Given the description of an element on the screen output the (x, y) to click on. 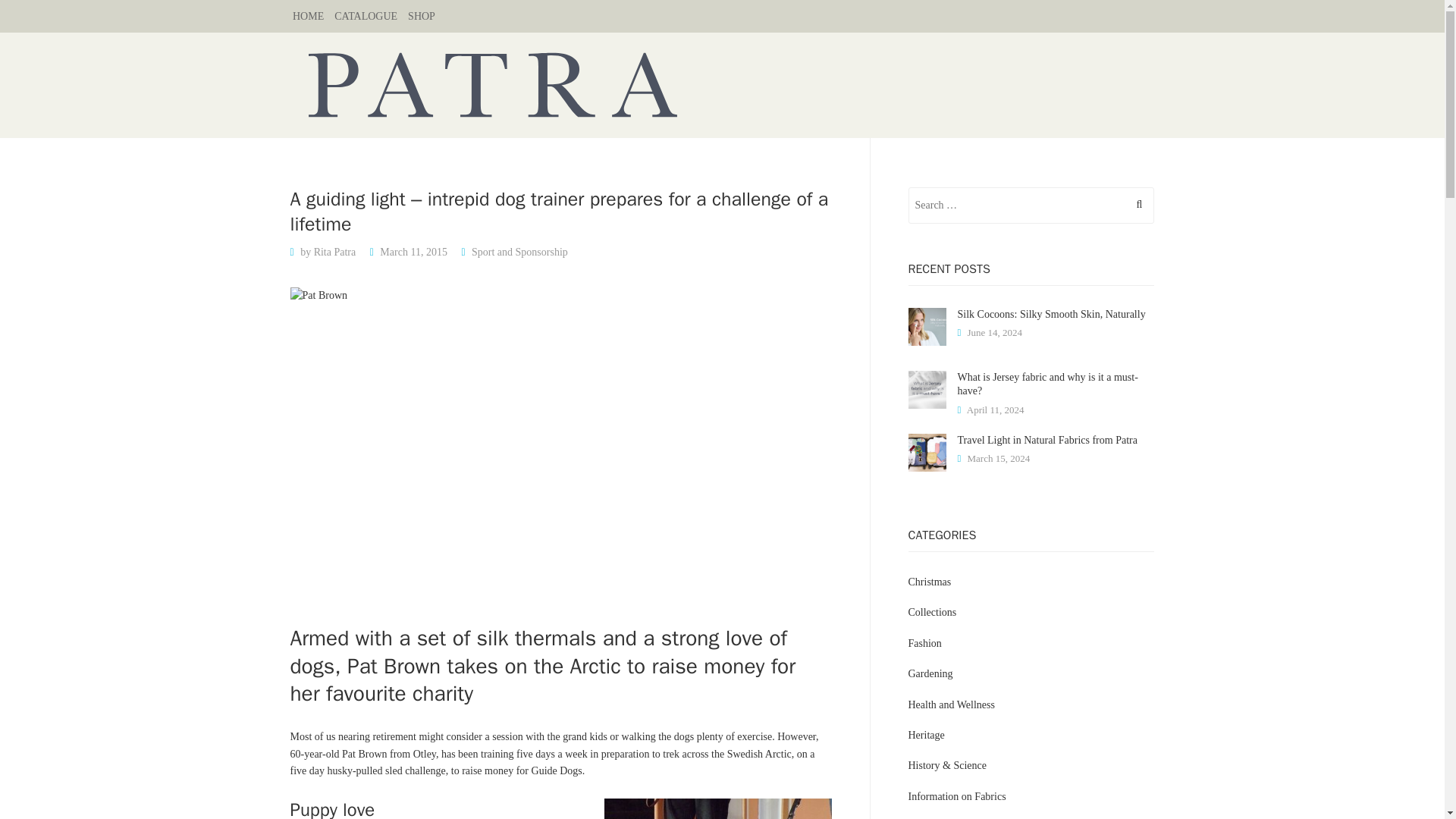
HOME (313, 16)
Patra Selections Blog: Silk Clothing and Underwear (721, 84)
SHOP (426, 16)
March 11, 2015 (413, 251)
Silk Cocoons: Silky Smooth Skin, Naturally (1050, 314)
Sport and Sponsorship (519, 251)
CATALOGUE (370, 16)
Patra Selections Blog: Silk Clothing and Underwear (721, 84)
Rita Patra (335, 251)
